Given the description of an element on the screen output the (x, y) to click on. 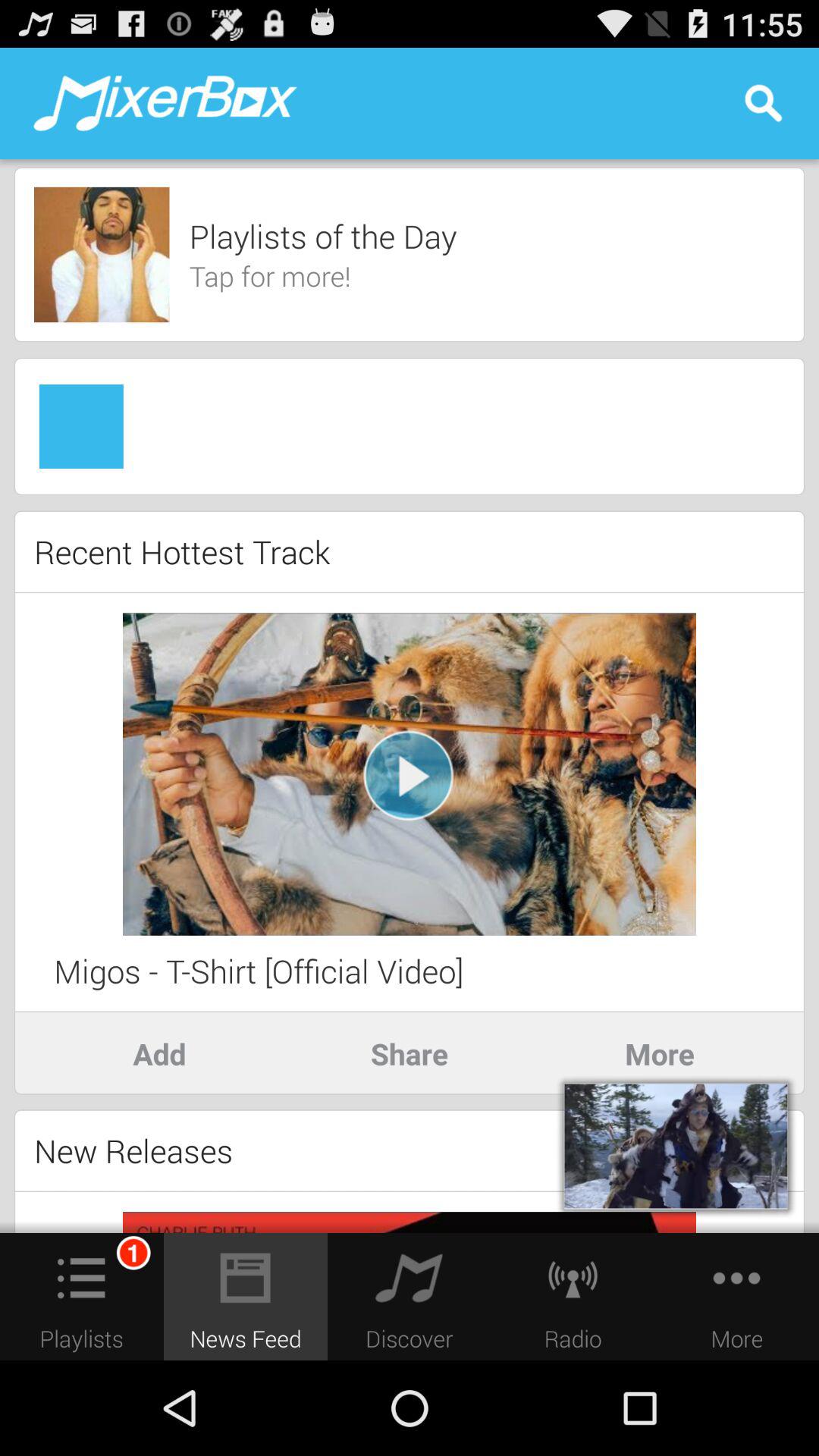
jump to the share app (409, 1053)
